Given the description of an element on the screen output the (x, y) to click on. 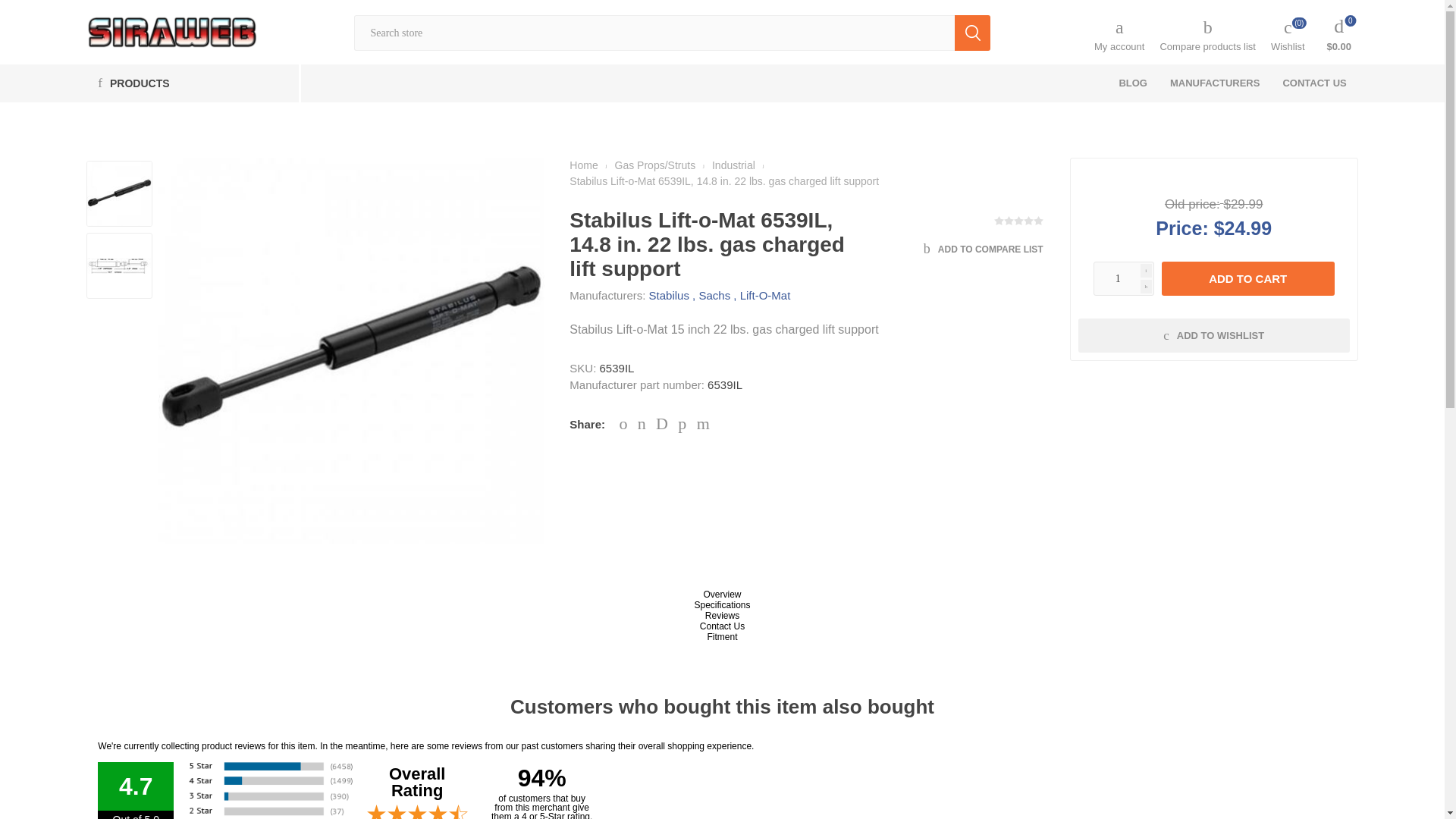
1 (1123, 278)
SiraWeb.com (171, 32)
Email a friend (705, 422)
My account (1119, 34)
Search (972, 32)
Search (972, 32)
Add to cart (1248, 278)
Compare products list (1206, 34)
Search (972, 32)
